Given the description of an element on the screen output the (x, y) to click on. 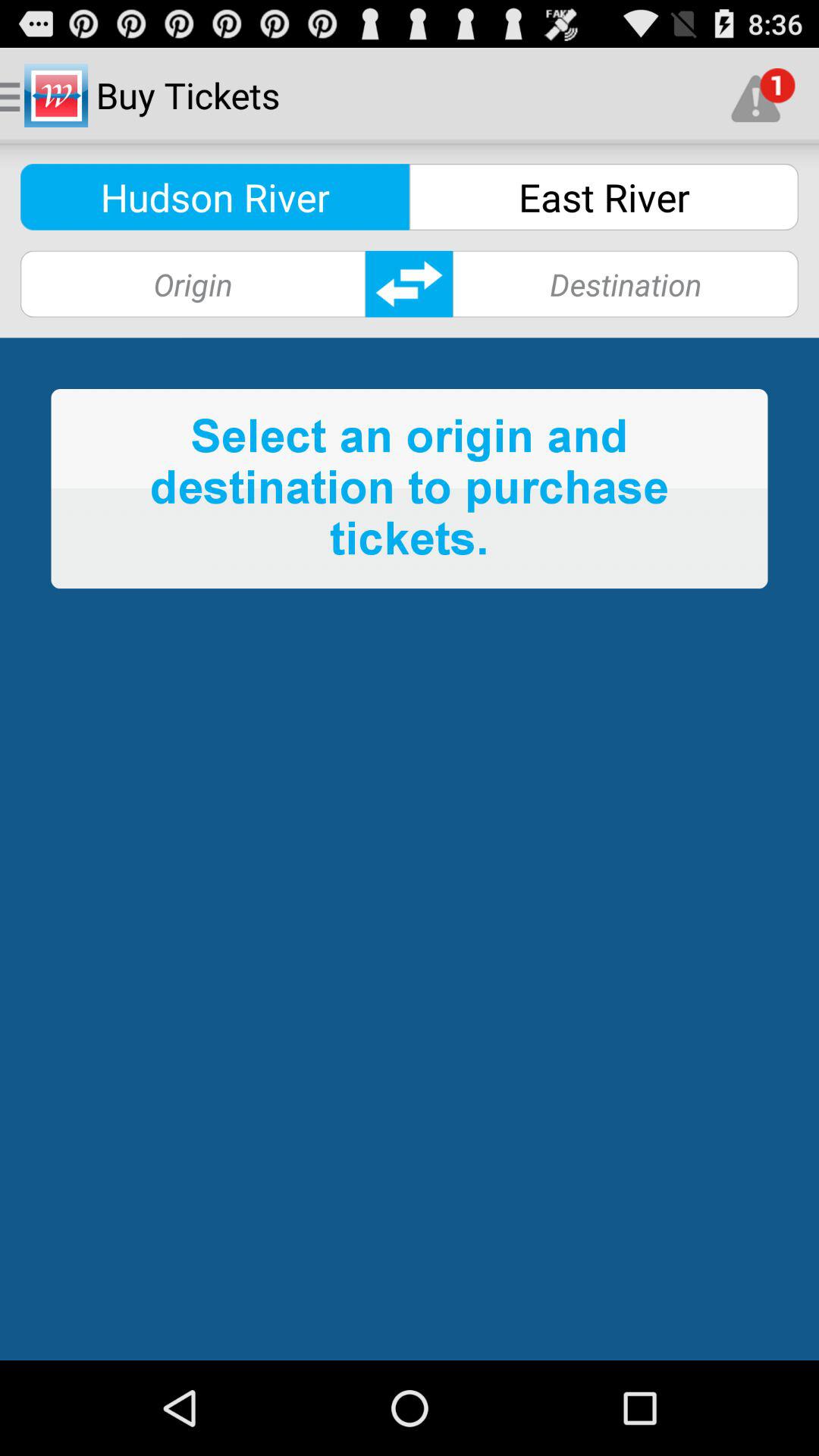
switch origin and destination labels (408, 283)
